Given the description of an element on the screen output the (x, y) to click on. 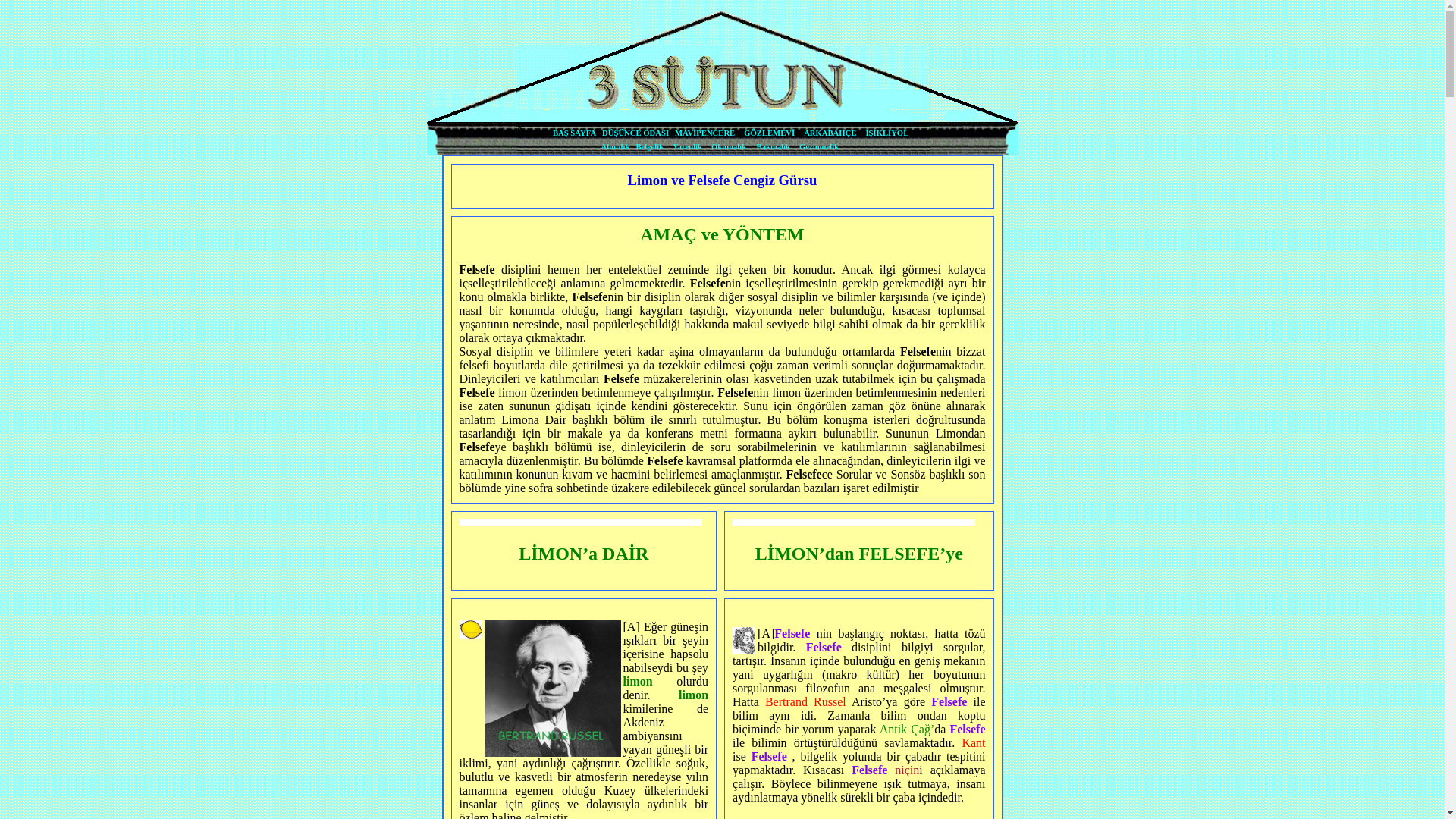
Belgelik Element type: text (649, 146)
Gezinmelik Element type: text (818, 146)
Yarenlik Element type: text (687, 146)
